Given the description of an element on the screen output the (x, y) to click on. 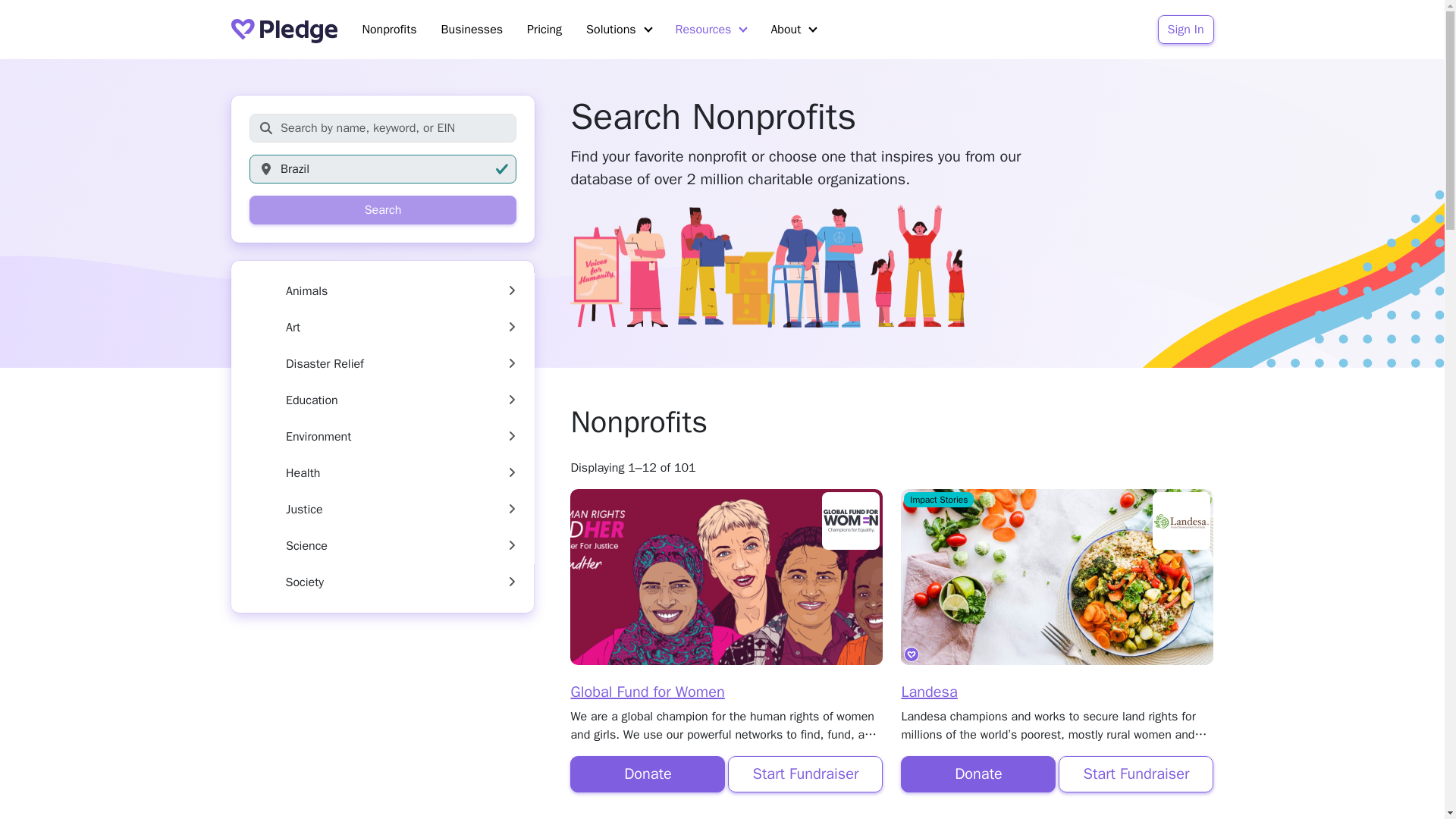
Businesses (472, 29)
Solutions (617, 29)
Resources (710, 29)
Sign In (1185, 29)
Nonprofits (388, 29)
Pricing (544, 29)
About (793, 29)
Brazil (381, 168)
Brazil (381, 168)
